Given the description of an element on the screen output the (x, y) to click on. 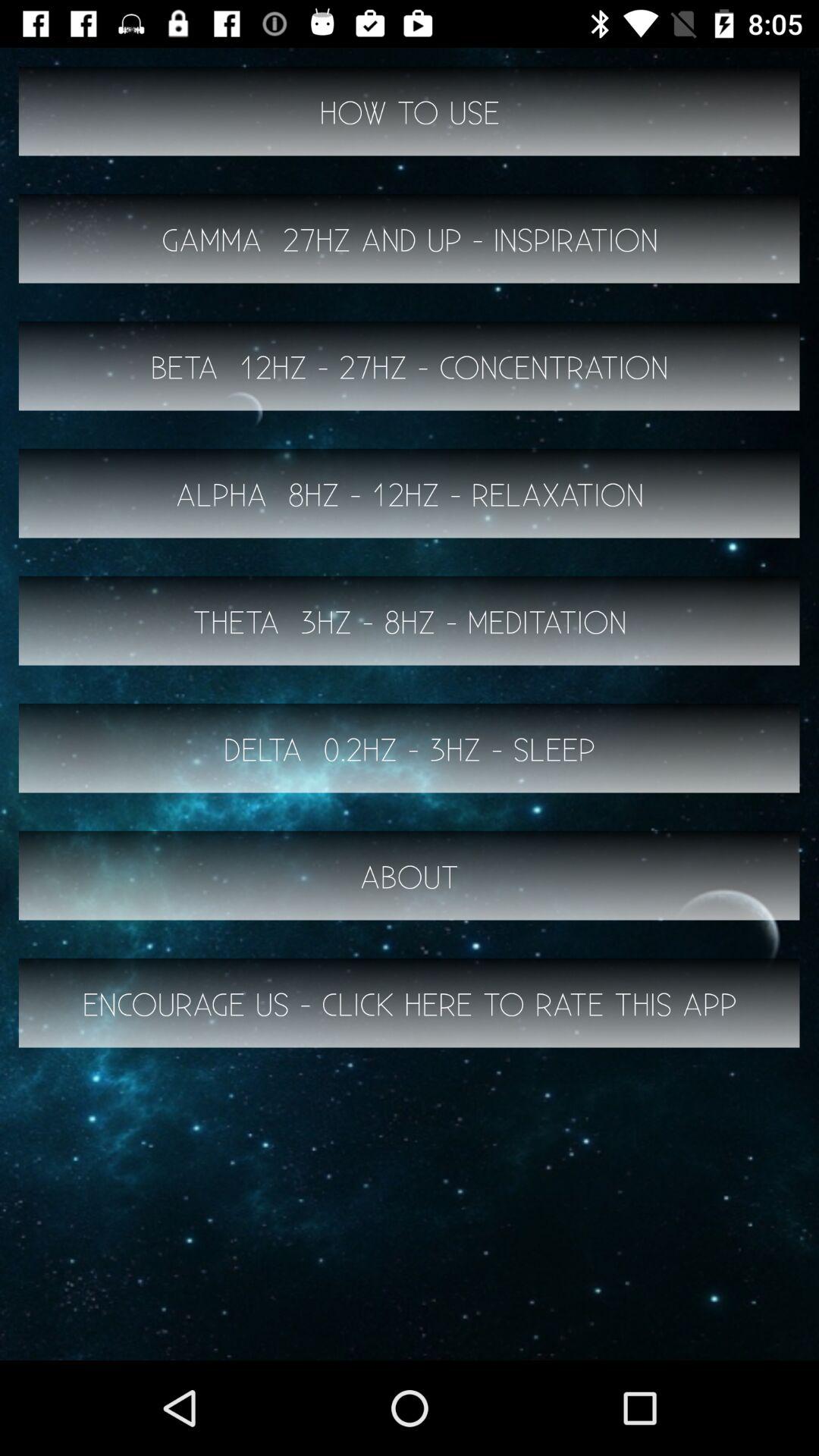
jump to delta 0 2hz (409, 748)
